Given the description of an element on the screen output the (x, y) to click on. 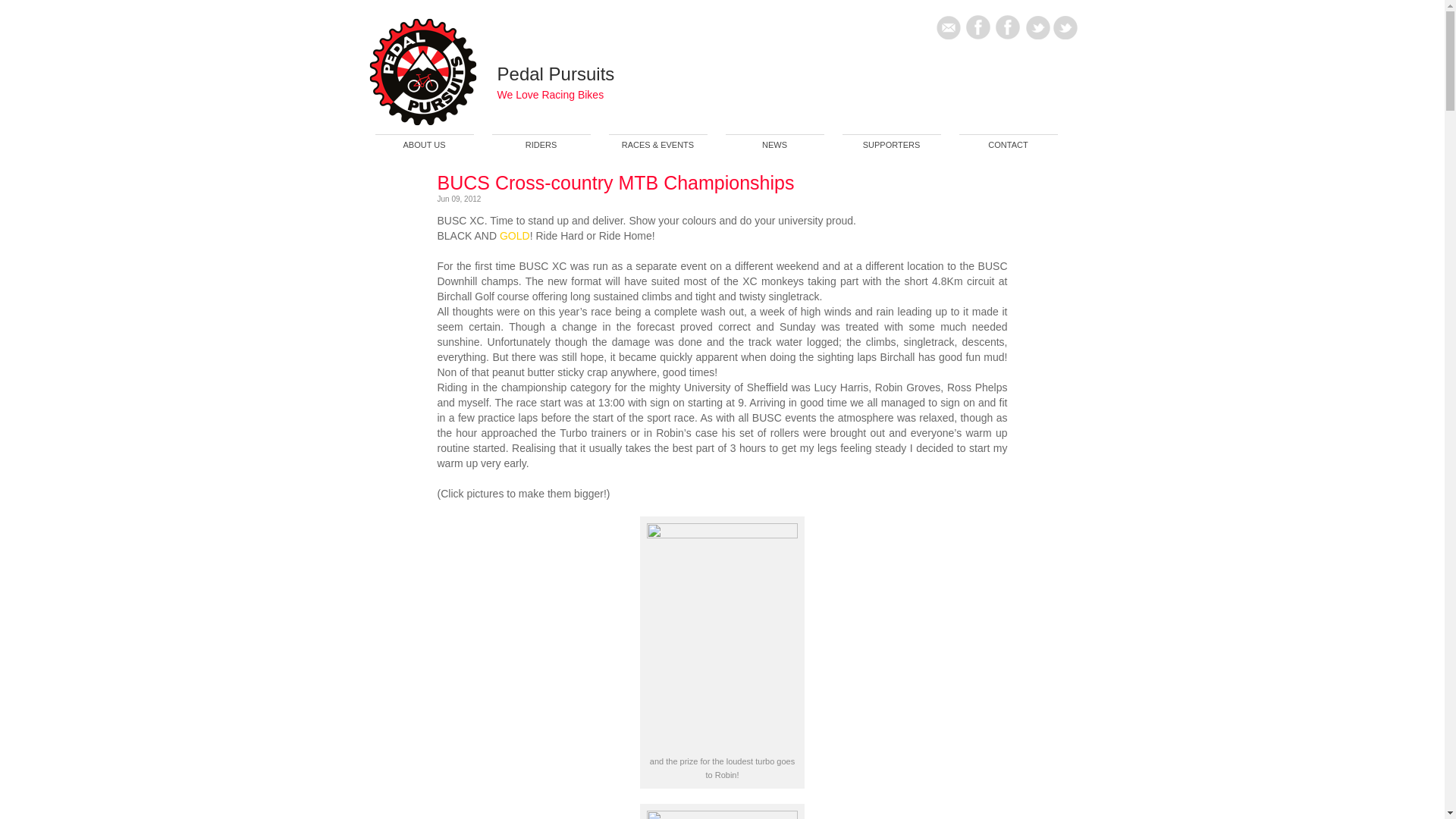
NEWS (774, 146)
Warming up (721, 814)
Click for Home (555, 73)
Pedal Pursuits (555, 73)
RIDERS (540, 146)
CONTACT (1007, 146)
BUCS Cross-country MTB Championships (614, 182)
Permalink to BUCS Cross-country MTB Championships (614, 182)
ABOUT US (423, 146)
SUPPORTERS (890, 146)
